Given the description of an element on the screen output the (x, y) to click on. 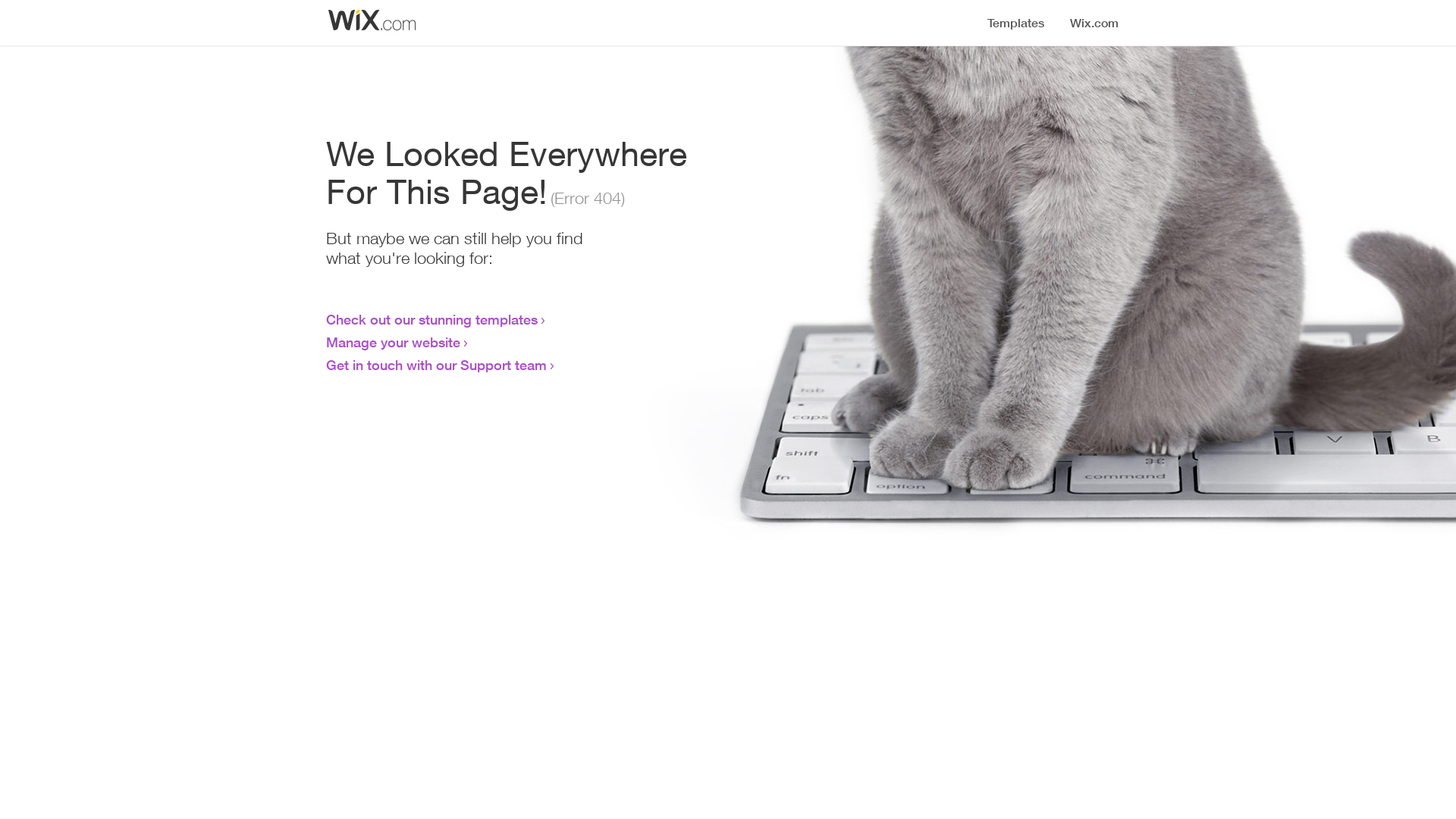
Manage your website Element type: text (393, 341)
Check out our stunning templates Element type: text (431, 318)
Get in touch with our Support team Element type: text (436, 364)
